Given the description of an element on the screen output the (x, y) to click on. 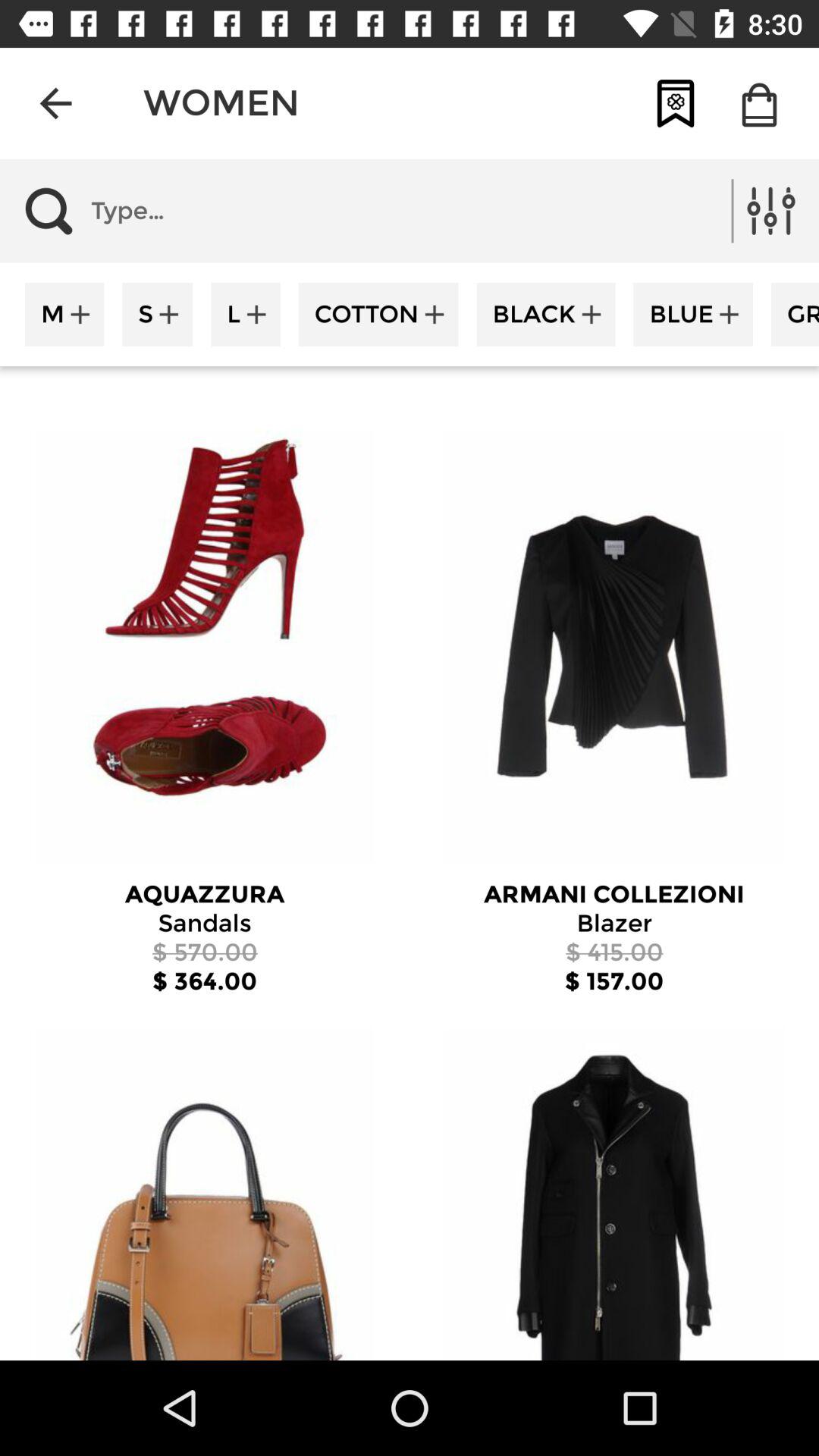
turn off the icon next to black icon (693, 314)
